Given the description of an element on the screen output the (x, y) to click on. 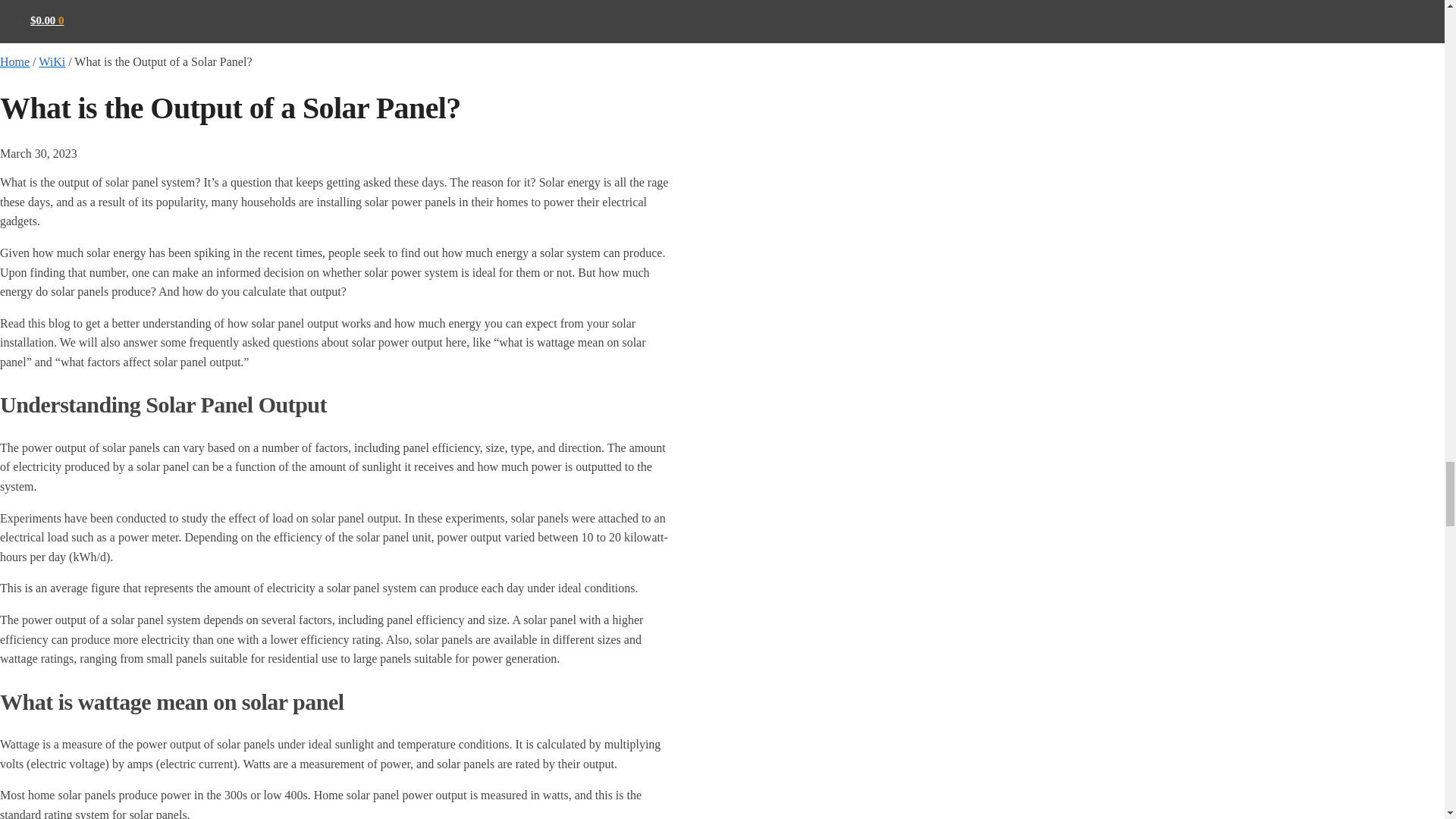
View your shopping cart (47, 20)
